Given the description of an element on the screen output the (x, y) to click on. 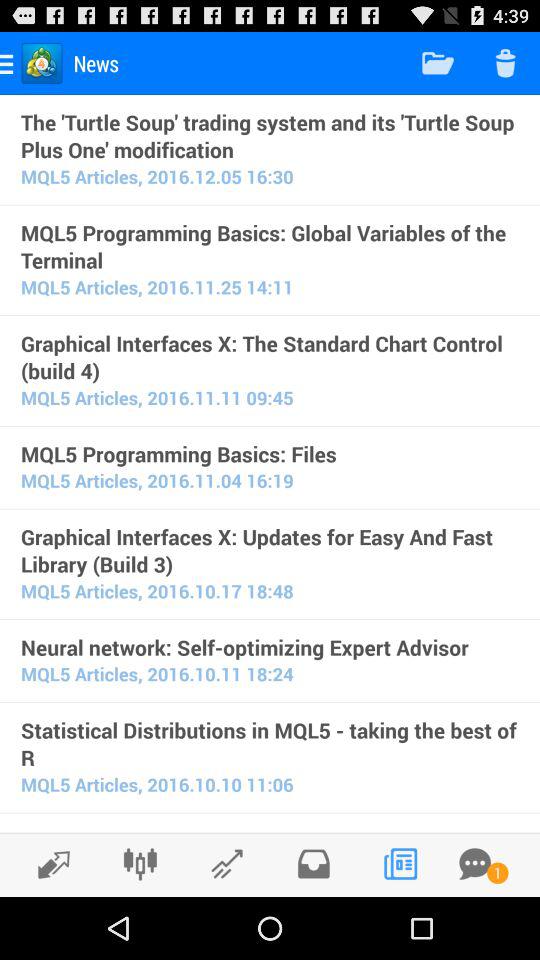
swipe to quick evaluation of icon (270, 829)
